Given the description of an element on the screen output the (x, y) to click on. 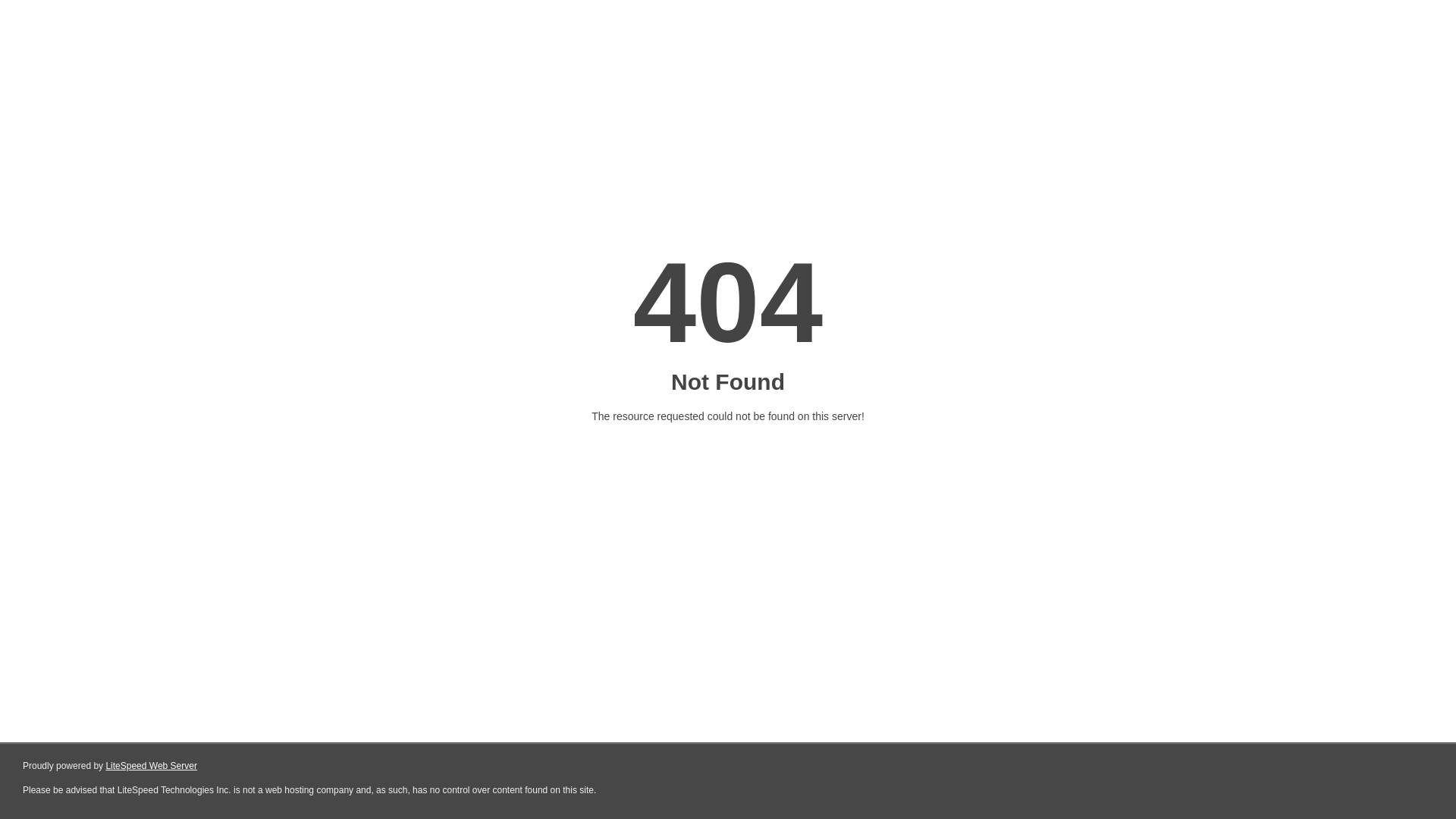
LiteSpeed Web Server Element type: text (151, 765)
